Given the description of an element on the screen output the (x, y) to click on. 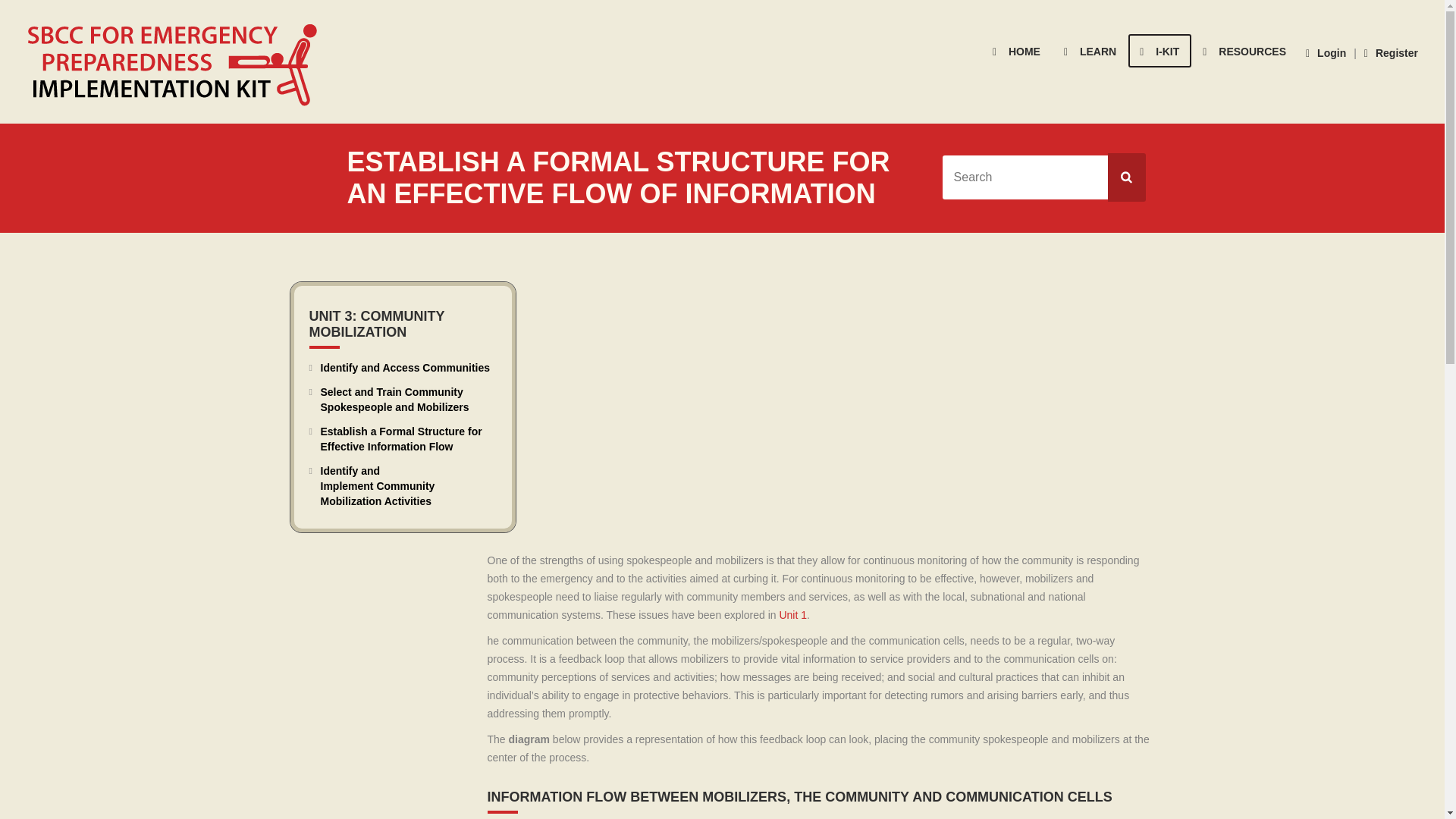
Login (1325, 52)
Emergency Communication Preparedness Implementation Kit (178, 61)
Register (1391, 52)
LEARN (1090, 50)
Login (1325, 52)
Register (1391, 52)
I-KIT (1159, 50)
HOME (1016, 50)
